Given the description of an element on the screen output the (x, y) to click on. 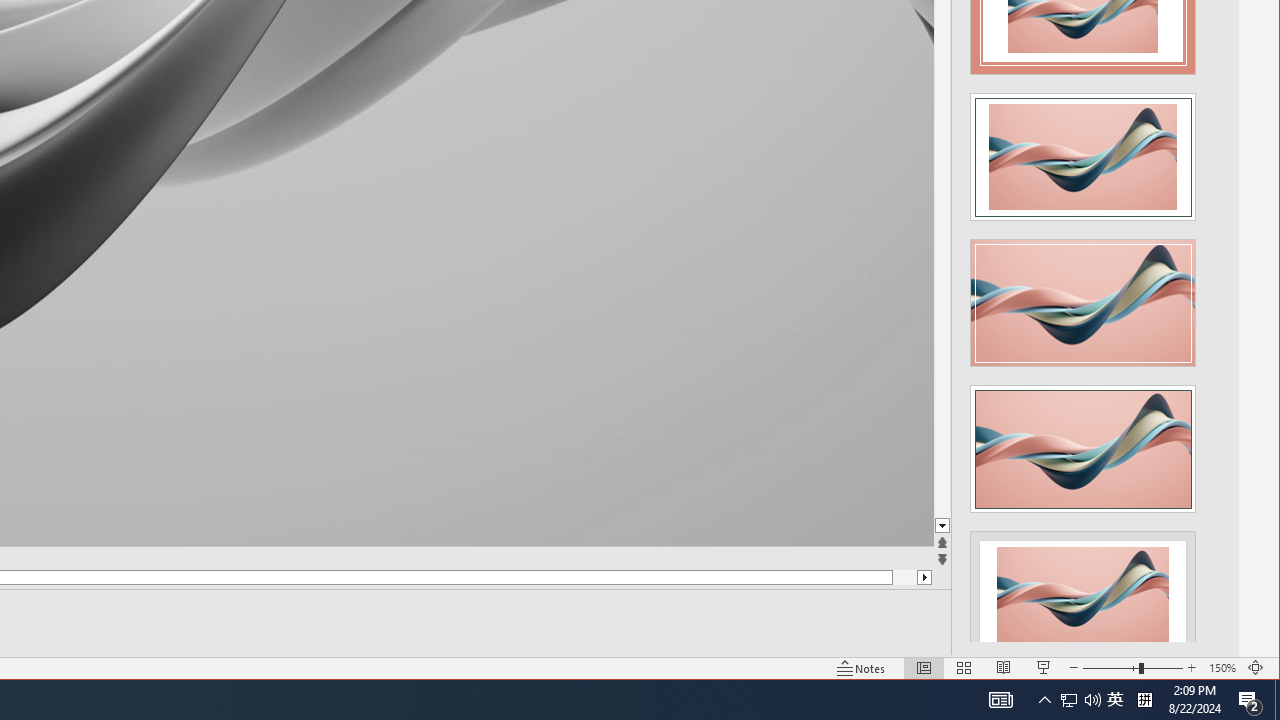
Zoom 150% (1222, 668)
